Given the description of an element on the screen output the (x, y) to click on. 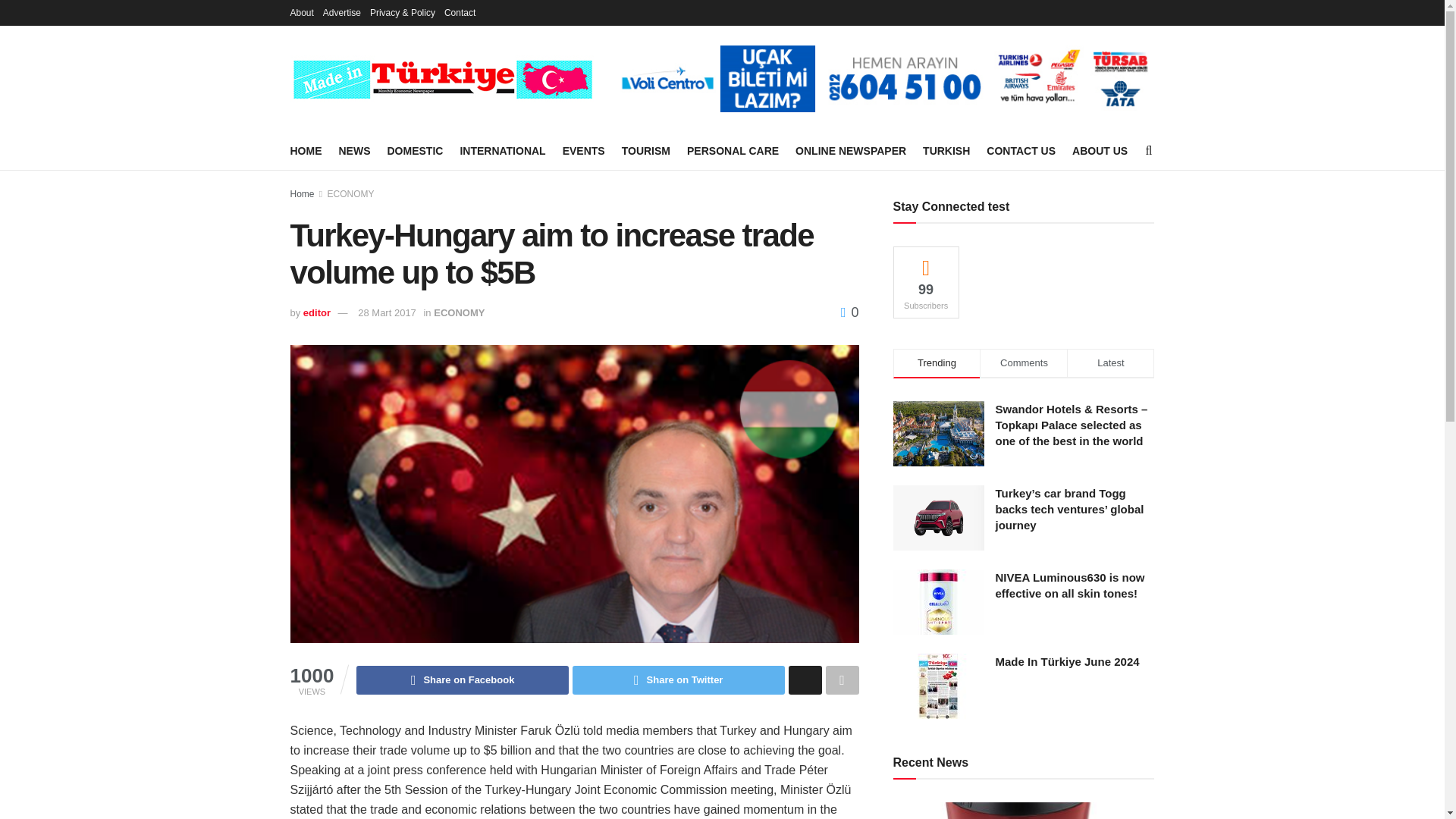
INTERNATIONAL (502, 150)
NEWS (353, 150)
ECONOMY (350, 194)
Contact (460, 12)
TOURISM (645, 150)
28 Mart 2017 (387, 312)
ONLINE NEWSPAPER (849, 150)
CONTACT US (1021, 150)
editor (316, 312)
HOME (305, 150)
Home (301, 194)
TURKISH (946, 150)
About (301, 12)
EVENTS (583, 150)
Advertise (342, 12)
